Given the description of an element on the screen output the (x, y) to click on. 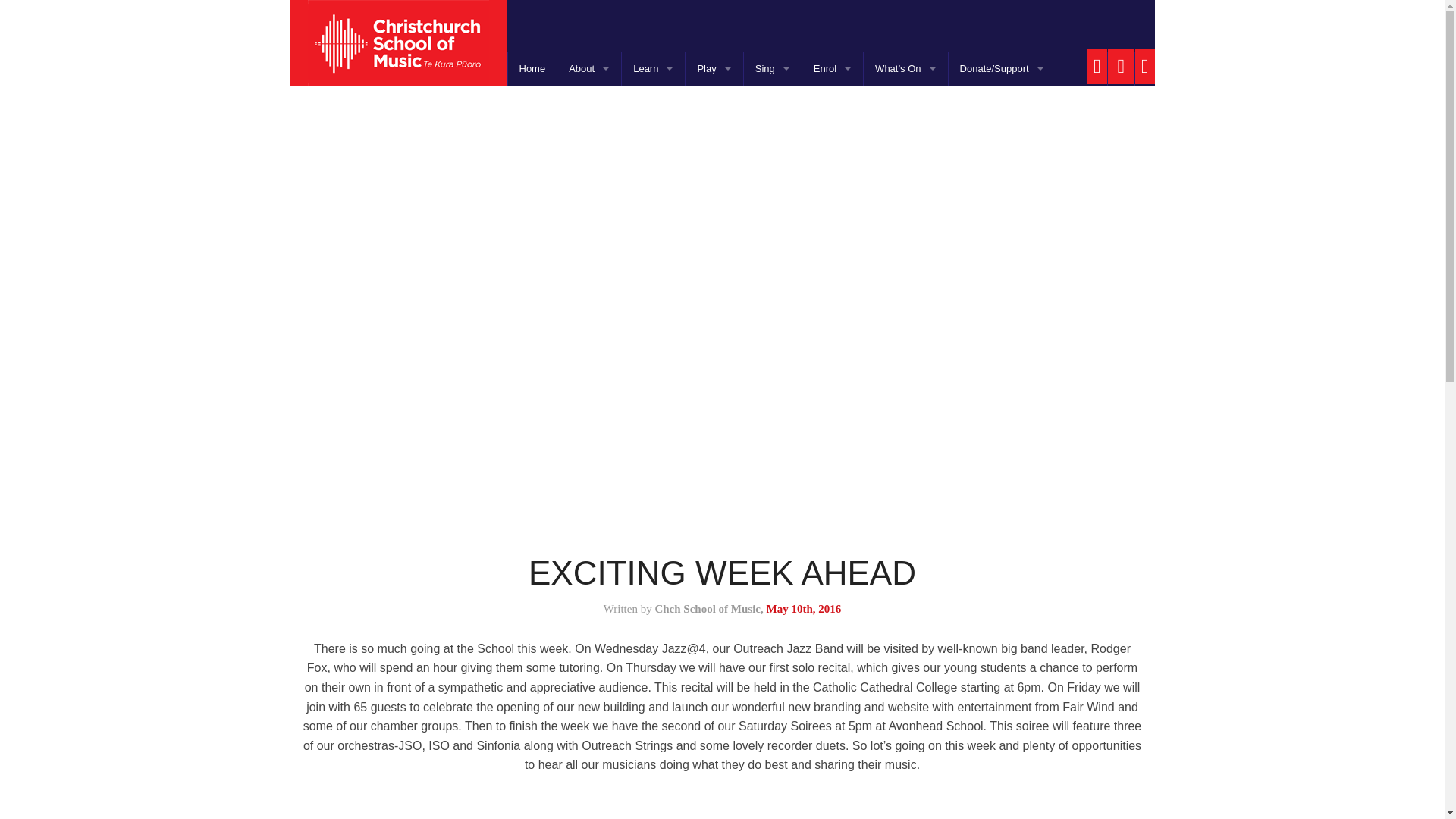
Strings (652, 103)
Brass Instruments (652, 173)
Jazz Combo (713, 347)
About (589, 68)
Student Information (589, 347)
Piano (652, 312)
Governance (589, 138)
PLAY! (713, 68)
Chamber Music (713, 277)
About CSM (589, 103)
Percussion (652, 207)
Lesson Delivery (589, 207)
Concert Bands (713, 138)
Staff (589, 173)
Big Band (713, 243)
